Given the description of an element on the screen output the (x, y) to click on. 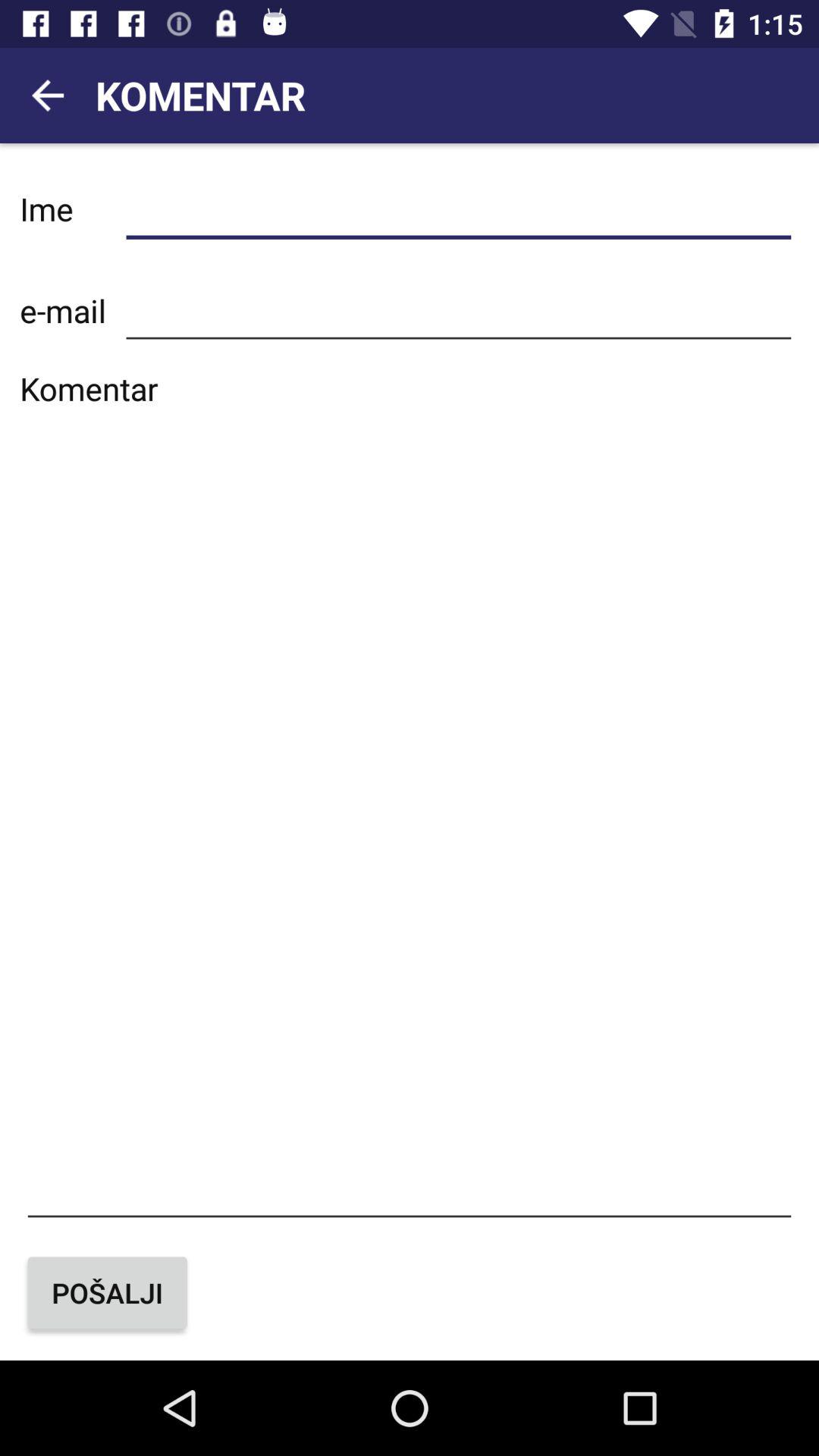
tap the item above the ime icon (47, 95)
